Given the description of an element on the screen output the (x, y) to click on. 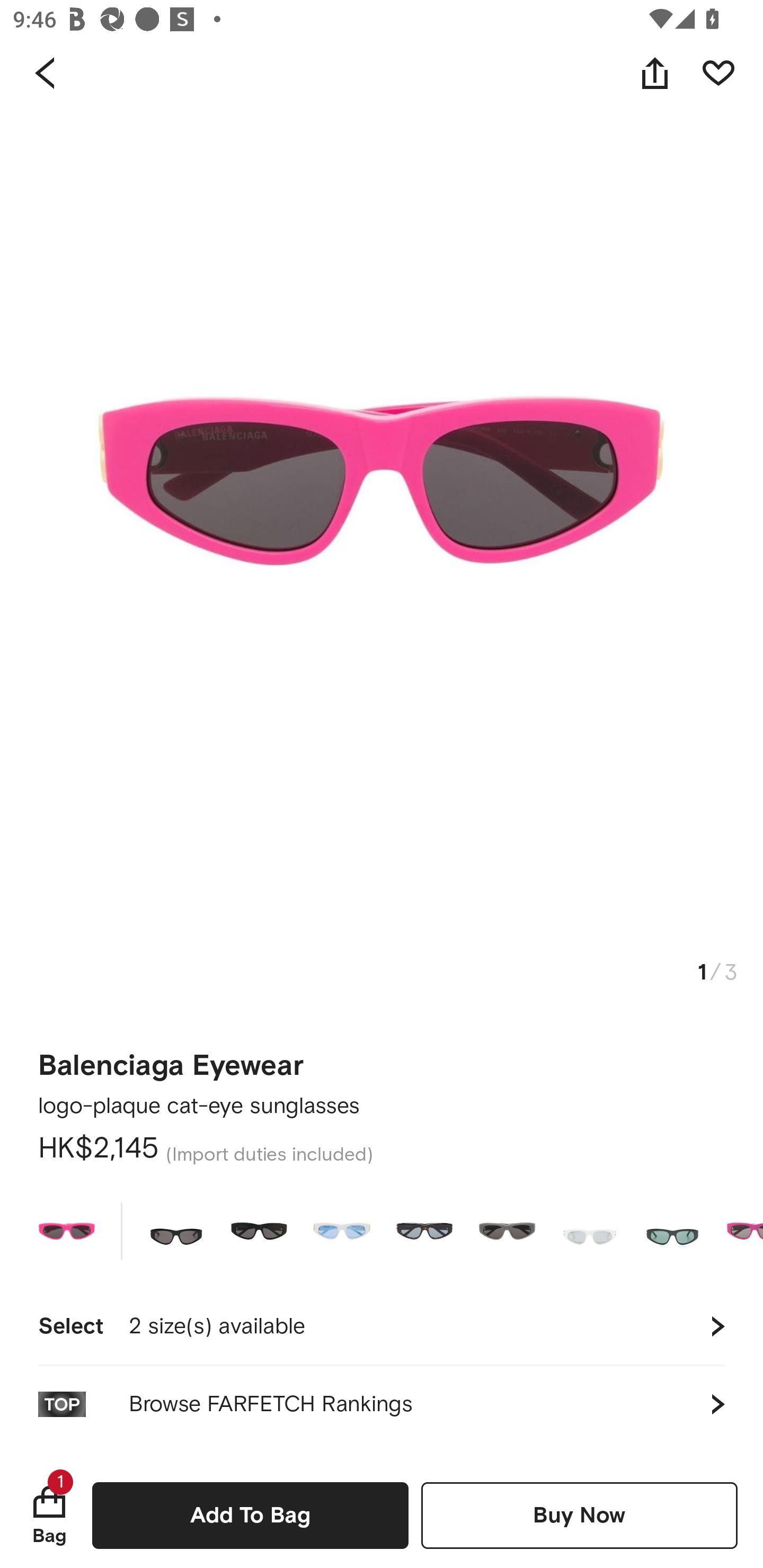
Balenciaga Eyewear (170, 1059)
Select 2 size(s) available (381, 1326)
Browse FARFETCH Rankings (381, 1403)
Bag 1 (49, 1515)
Add To Bag (250, 1515)
Buy Now (579, 1515)
